Given the description of an element on the screen output the (x, y) to click on. 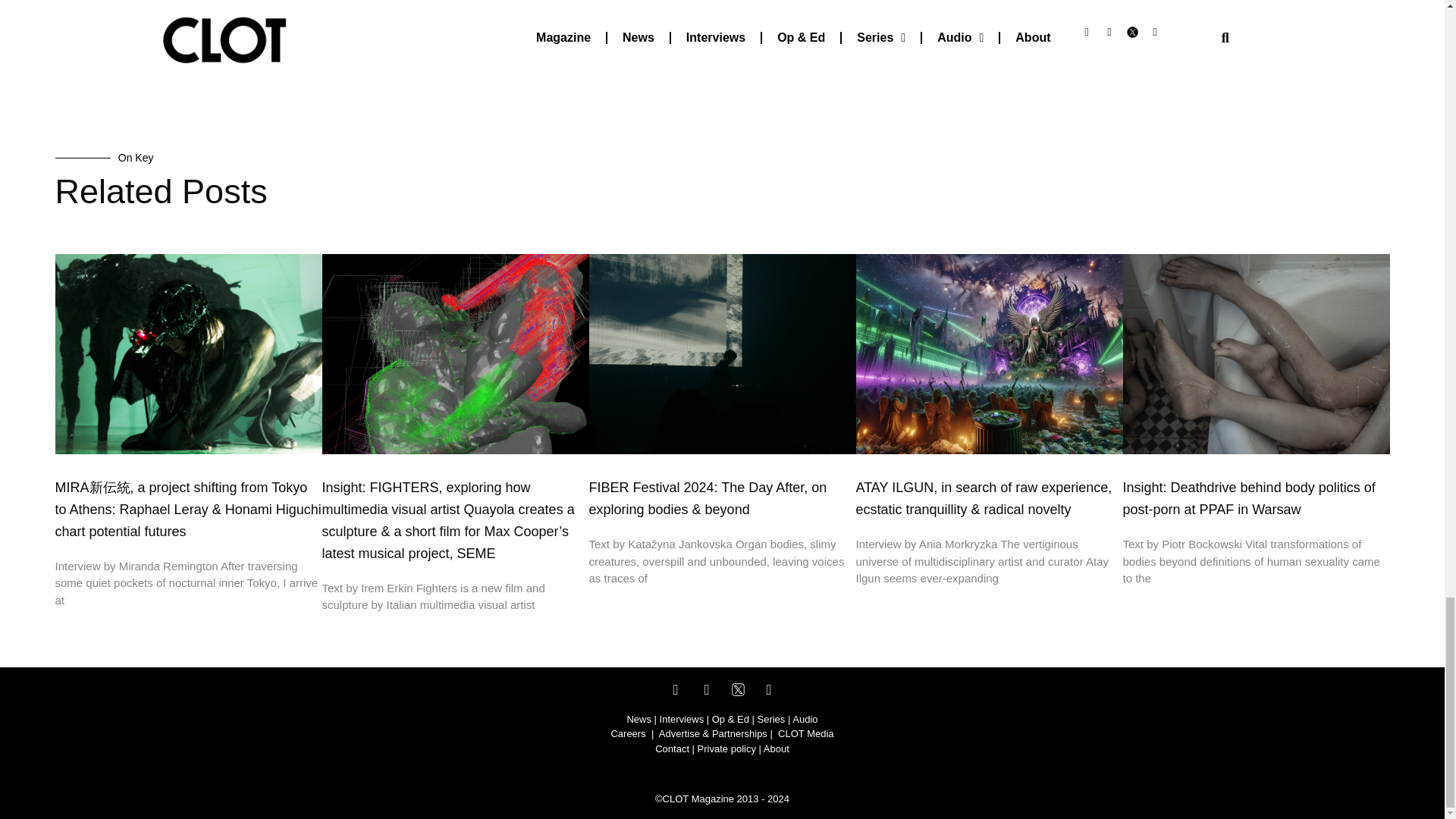
ezgif.com-resize-1 (178, 3)
ezgif-1-2da2a536b5 (992, 3)
ezgif-1-3803018b25 (449, 3)
